Given the description of an element on the screen output the (x, y) to click on. 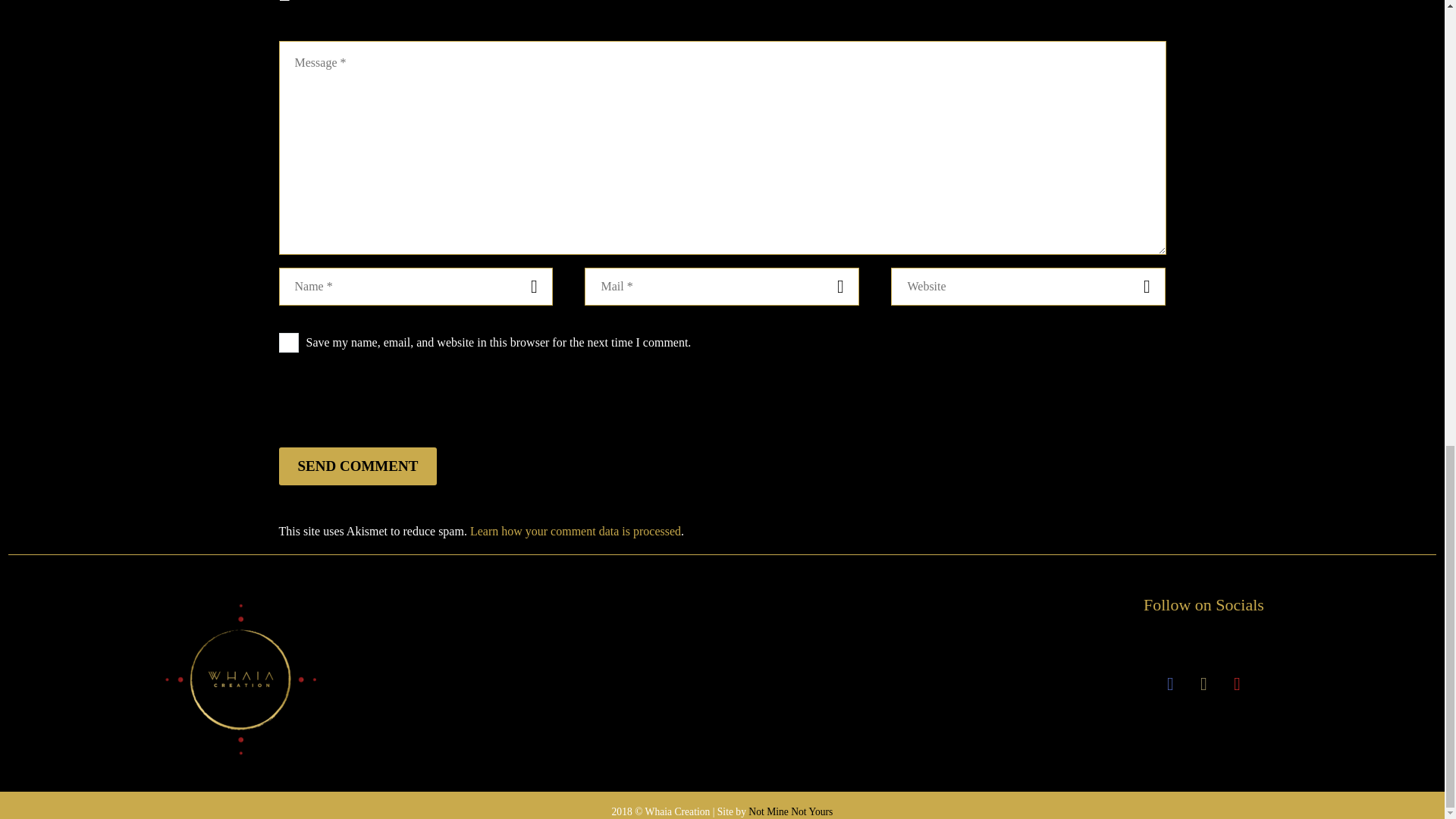
Not Mine Not Yours (790, 811)
Learn how your comment data is processed (575, 530)
SEND COMMENT (358, 466)
